Given the description of an element on the screen output the (x, y) to click on. 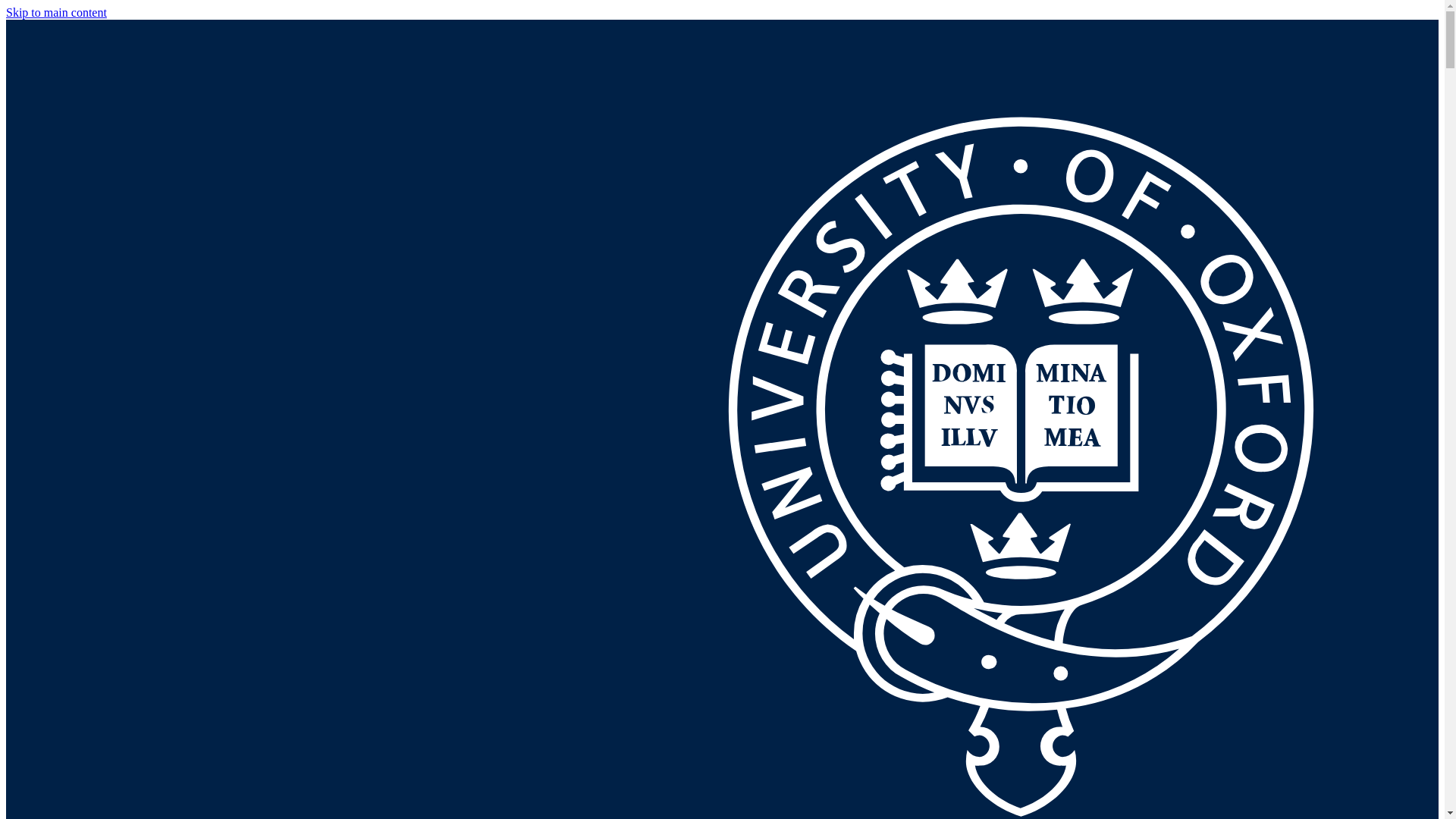
Skip to main content (55, 11)
